Given the description of an element on the screen output the (x, y) to click on. 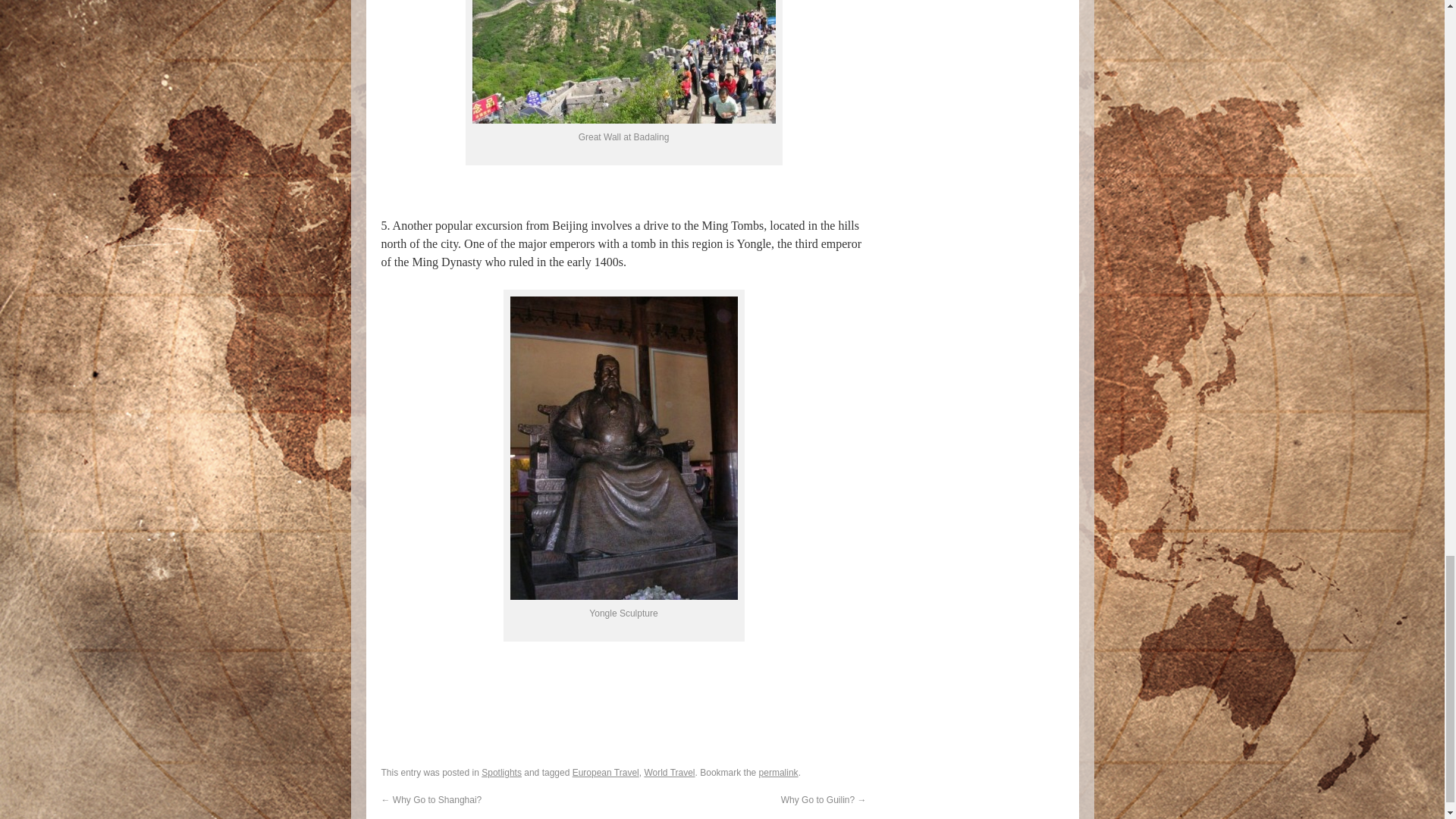
permalink (777, 772)
Permalink to Why Go to Beijing? (777, 772)
World Travel (668, 772)
Spotlights (501, 772)
European Travel (605, 772)
